Given the description of an element on the screen output the (x, y) to click on. 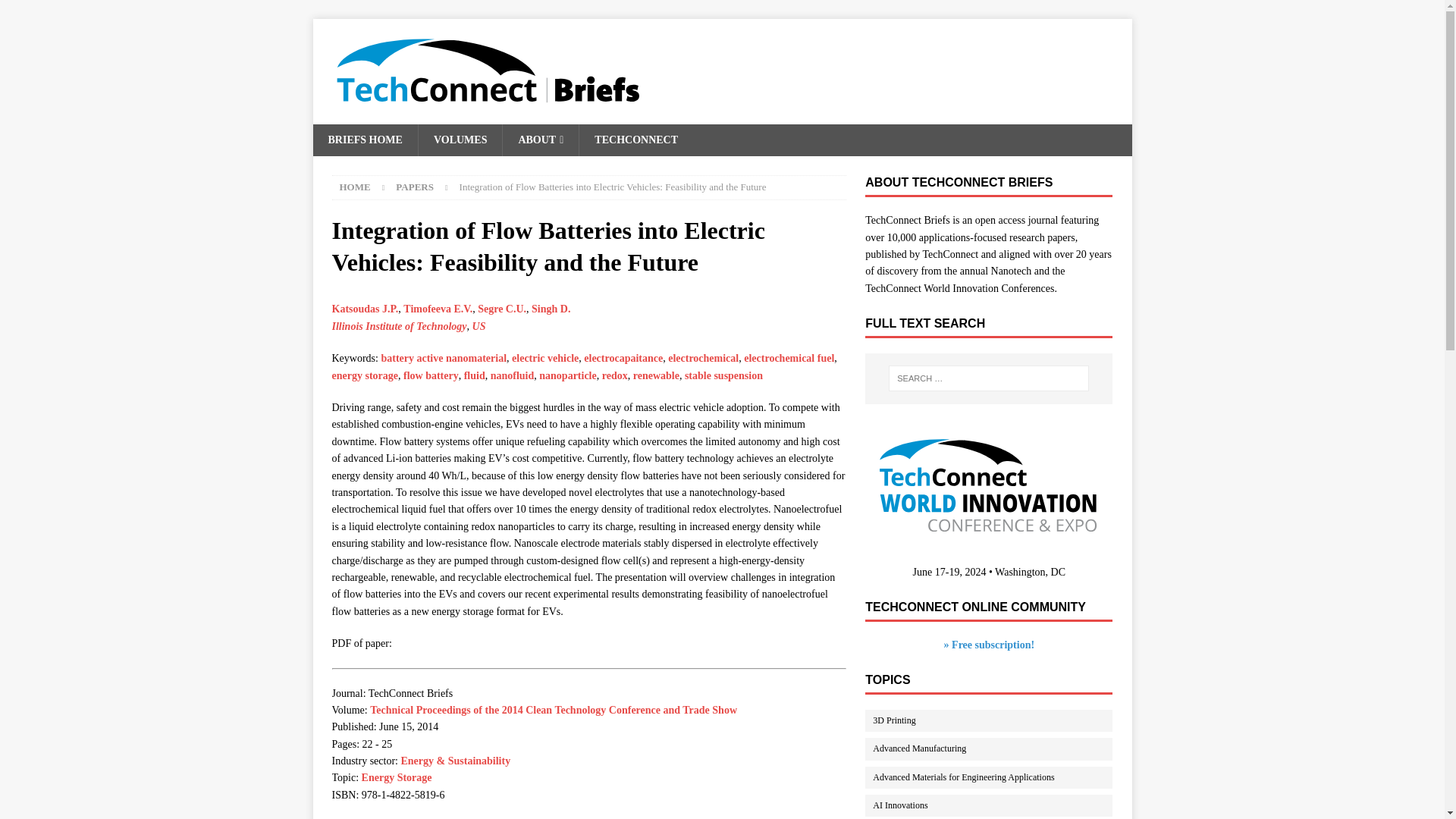
Segre C.U. (501, 308)
energy storage (364, 375)
fluid (474, 375)
BRIEFS HOME (364, 140)
nanoparticle (566, 375)
Energy Storage (396, 777)
stable suspension (723, 375)
PAPERS (414, 186)
electrochemical (703, 357)
